Given the description of an element on the screen output the (x, y) to click on. 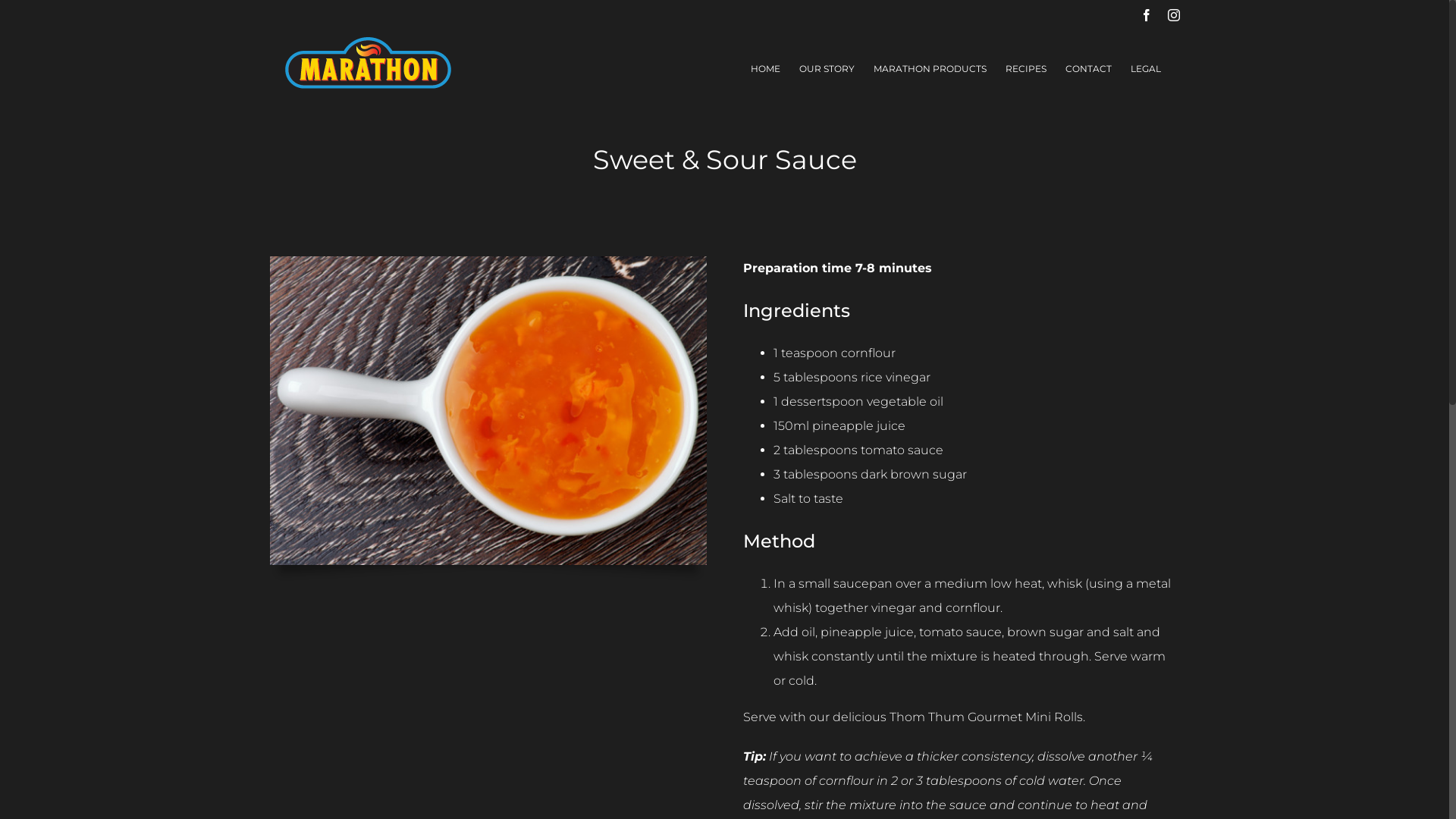
RECIPES Element type: text (1025, 68)
HOME Element type: text (765, 68)
Instagram Element type: text (1173, 15)
Facebook Element type: text (1146, 15)
CONTACT Element type: text (1087, 68)
OUR STORY Element type: text (826, 68)
MARATHON PRODUCTS Element type: text (929, 68)
LEGAL Element type: text (1144, 68)
iStock-495338285_WEB Element type: hover (487, 410)
